Given the description of an element on the screen output the (x, y) to click on. 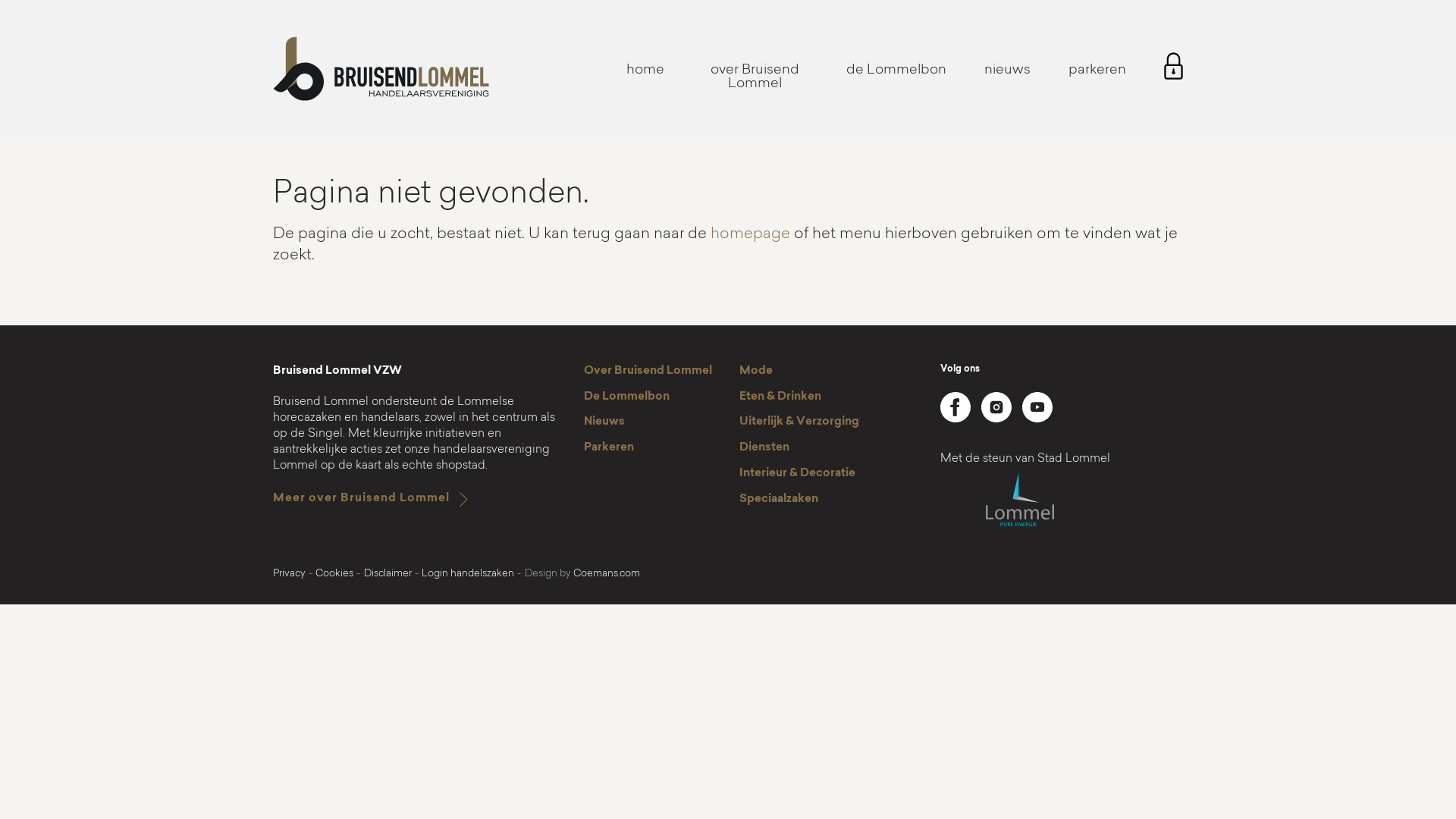
Diensten Element type: text (764, 448)
Login handelszaken Element type: text (467, 573)
Over Bruisend Lommel Element type: text (647, 371)
Disclaimer Element type: text (387, 573)
home Element type: text (645, 70)
Speciaalzaken Element type: text (778, 499)
Meer over Bruisend Lommel Element type: text (361, 498)
De Lommelbon Element type: text (626, 397)
Mode Element type: text (755, 371)
Coemans.com Element type: text (606, 573)
Parkeren Element type: text (608, 448)
Uiterlijk & Verzorging Element type: text (799, 422)
de Lommelbon Element type: text (896, 70)
Interieur & Decoratie Element type: text (797, 473)
homepage Element type: text (750, 234)
Eten & Drinken Element type: text (780, 397)
Nieuws Element type: text (603, 422)
parkeren Element type: text (1097, 70)
nieuws Element type: text (1007, 70)
over Bruisend Lommel Element type: text (755, 77)
Privacy Element type: text (289, 573)
Cookies Element type: text (334, 573)
